Given the description of an element on the screen output the (x, y) to click on. 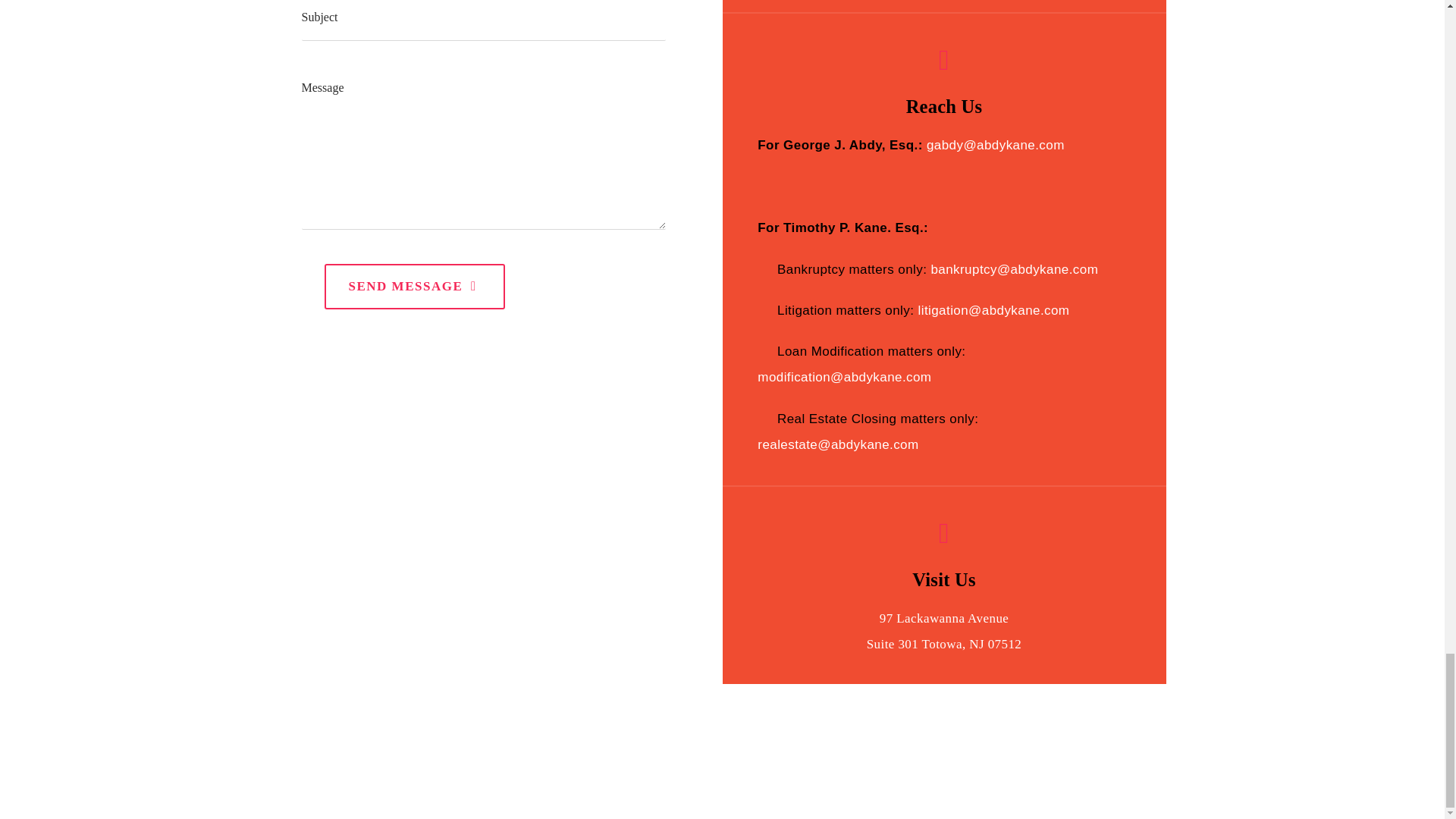
Contact Us (1114, 789)
Home (798, 789)
About Us (864, 789)
Practices (937, 789)
SEND MESSAGE (414, 286)
